Given the description of an element on the screen output the (x, y) to click on. 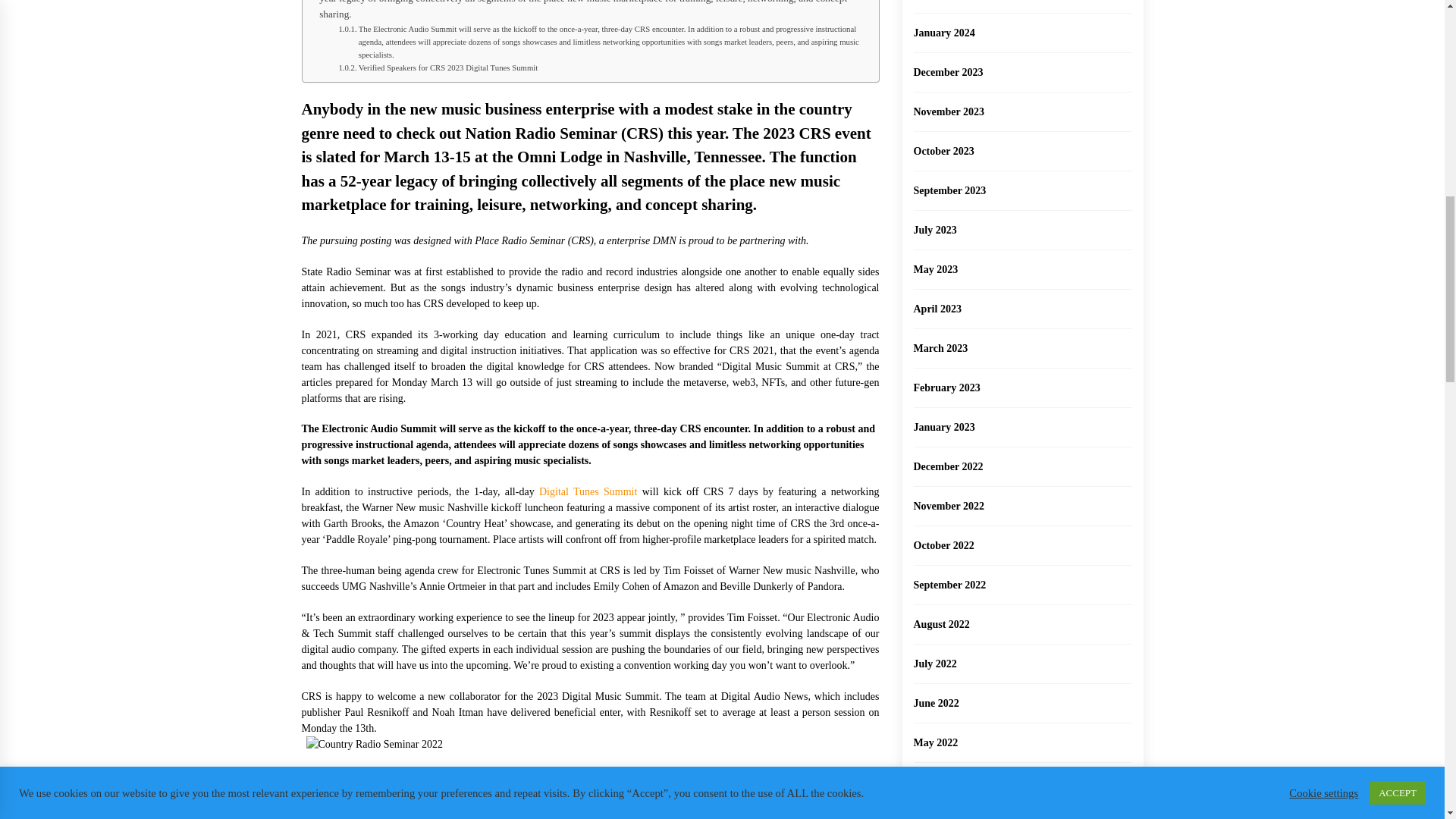
Verified Speakers for CRS 2023 Digital Tunes Summit (437, 67)
